Given the description of an element on the screen output the (x, y) to click on. 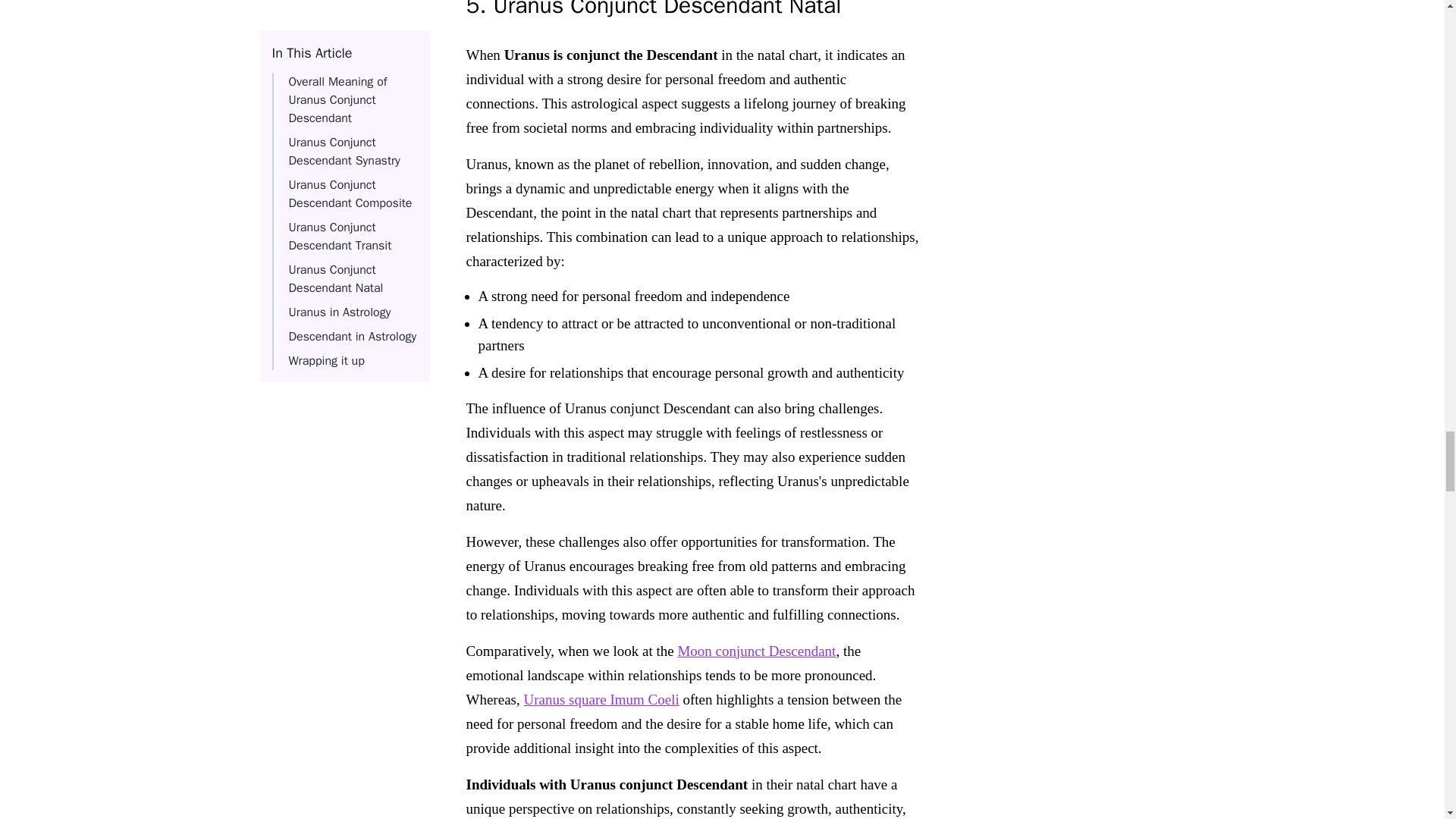
Moon conjunct Descendant (756, 650)
Uranus square Imum Coeli (600, 699)
